Given the description of an element on the screen output the (x, y) to click on. 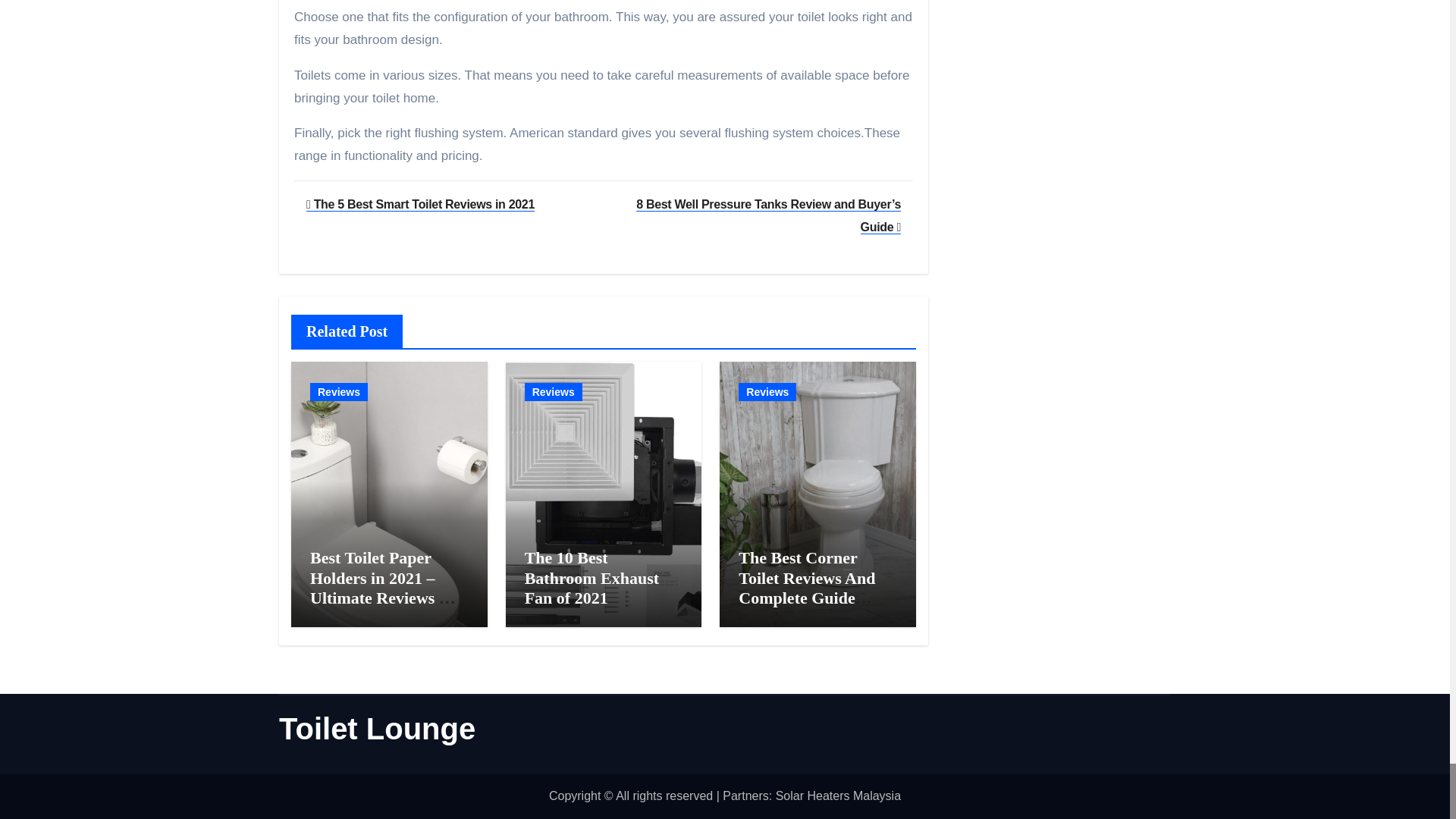
The 5 Best Smart Toilet Reviews in 2021 (419, 204)
Reviews (339, 392)
